Given the description of an element on the screen output the (x, y) to click on. 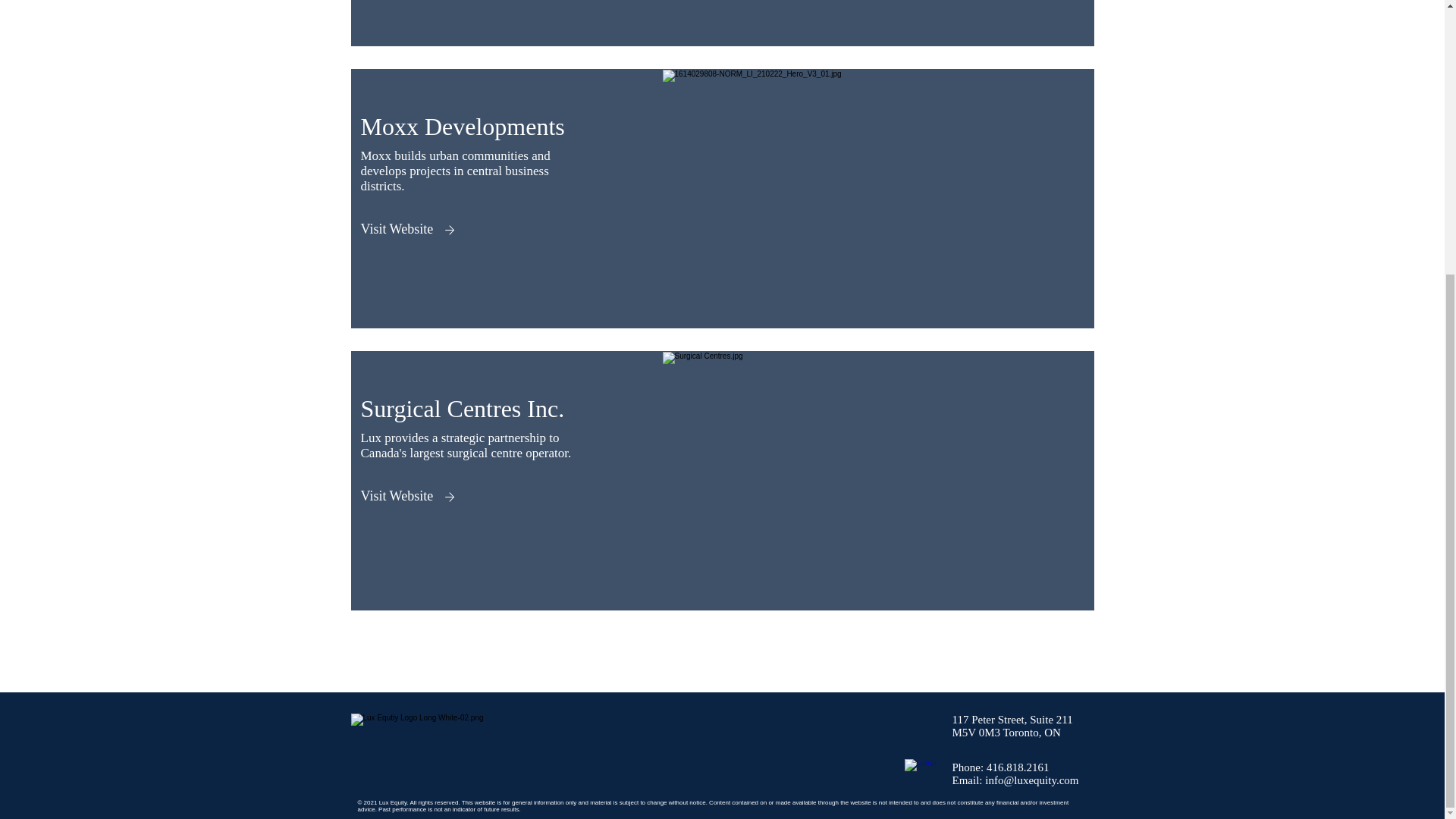
Visit Website (397, 228)
Visit Website (397, 495)
